Given the description of an element on the screen output the (x, y) to click on. 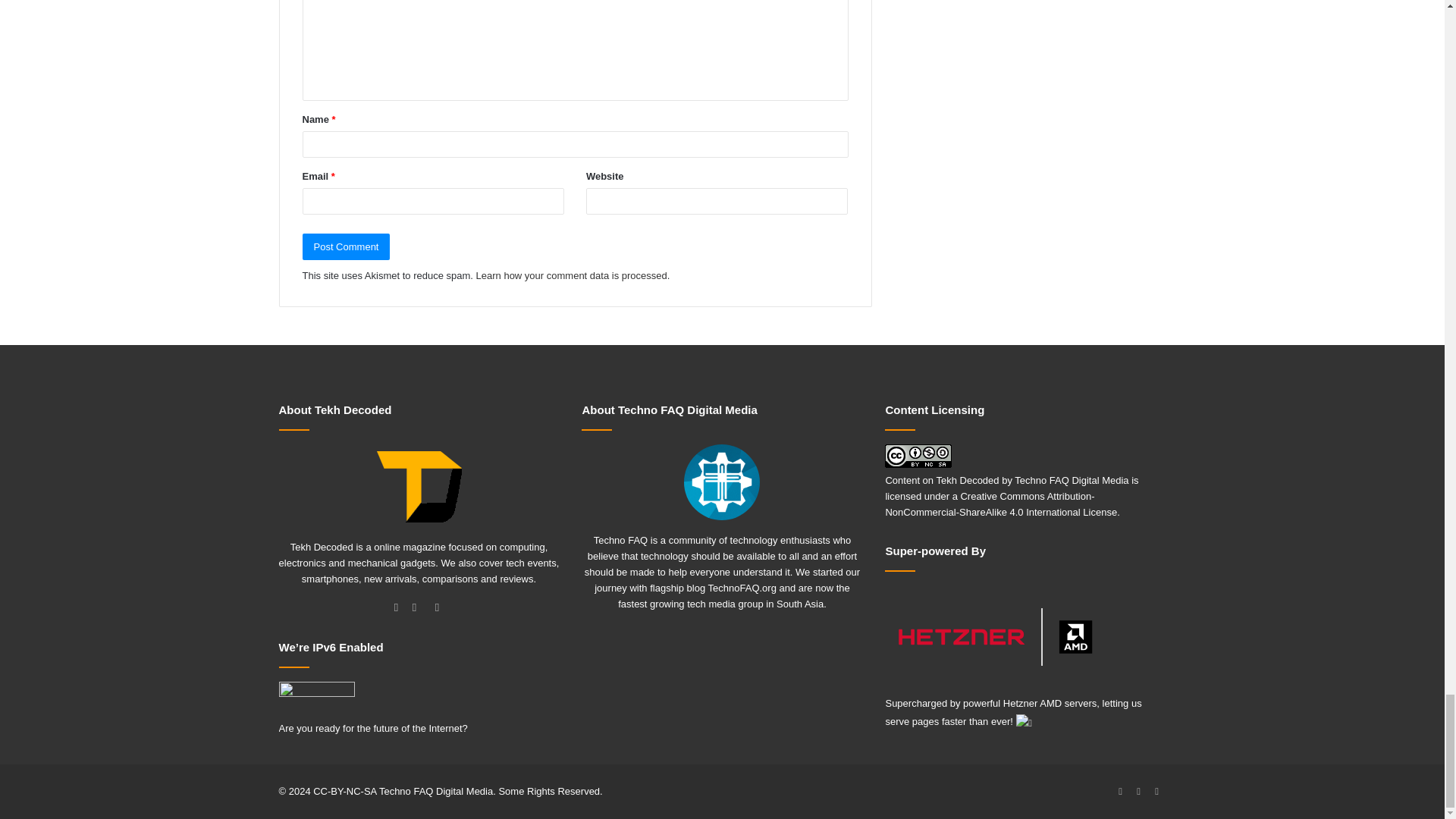
Post Comment (345, 246)
